Given the description of an element on the screen output the (x, y) to click on. 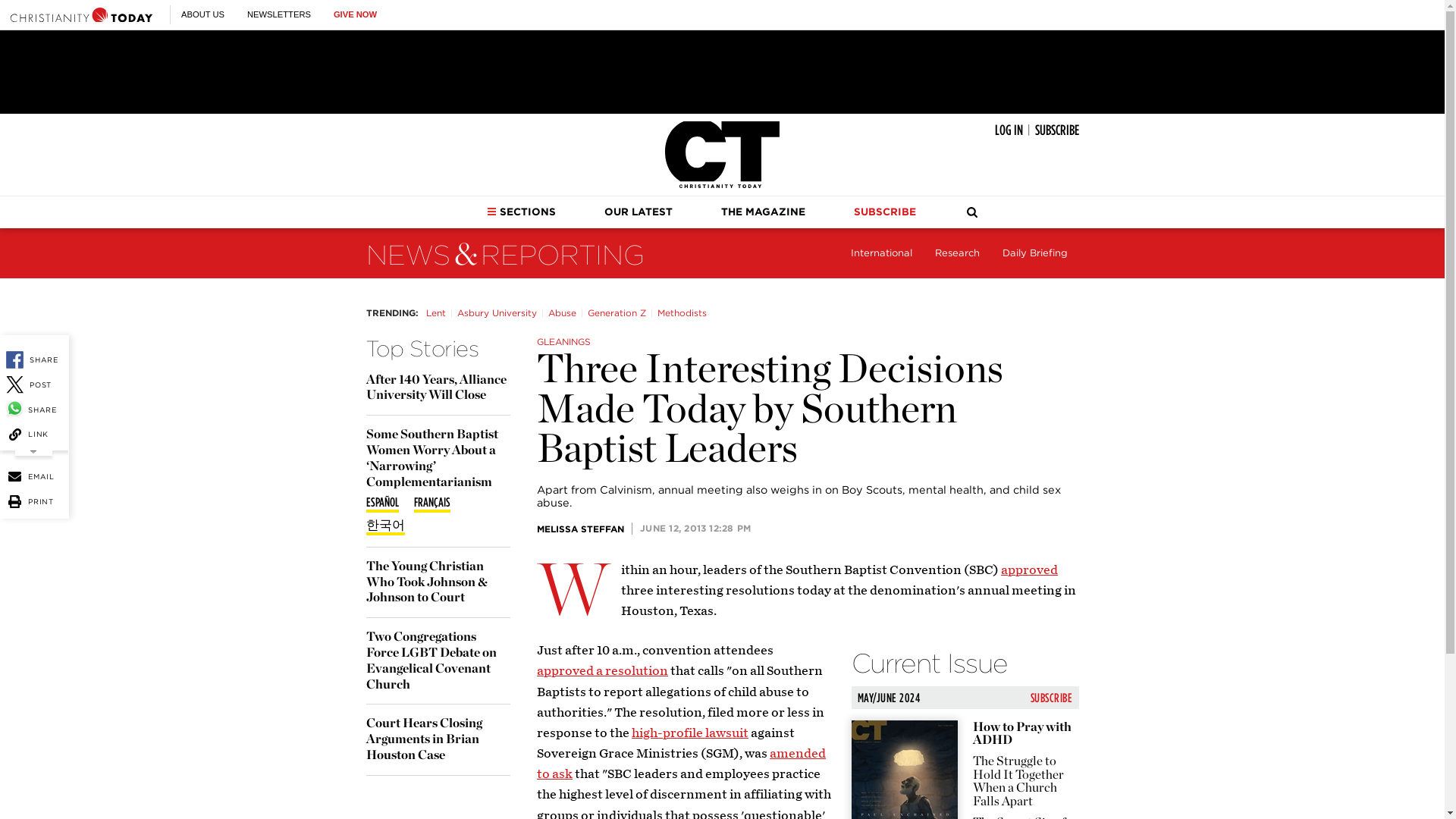
SUBSCRIBE (1055, 130)
3rd party ad content (721, 71)
Christianity Today (81, 14)
Christianity Today (721, 154)
LOG IN (1008, 130)
SECTIONS (521, 212)
GIVE NOW (355, 14)
ABOUT US (202, 14)
Sections Dropdown (491, 211)
French (431, 503)
NEWSLETTERS (278, 14)
Spanish (381, 503)
